Given the description of an element on the screen output the (x, y) to click on. 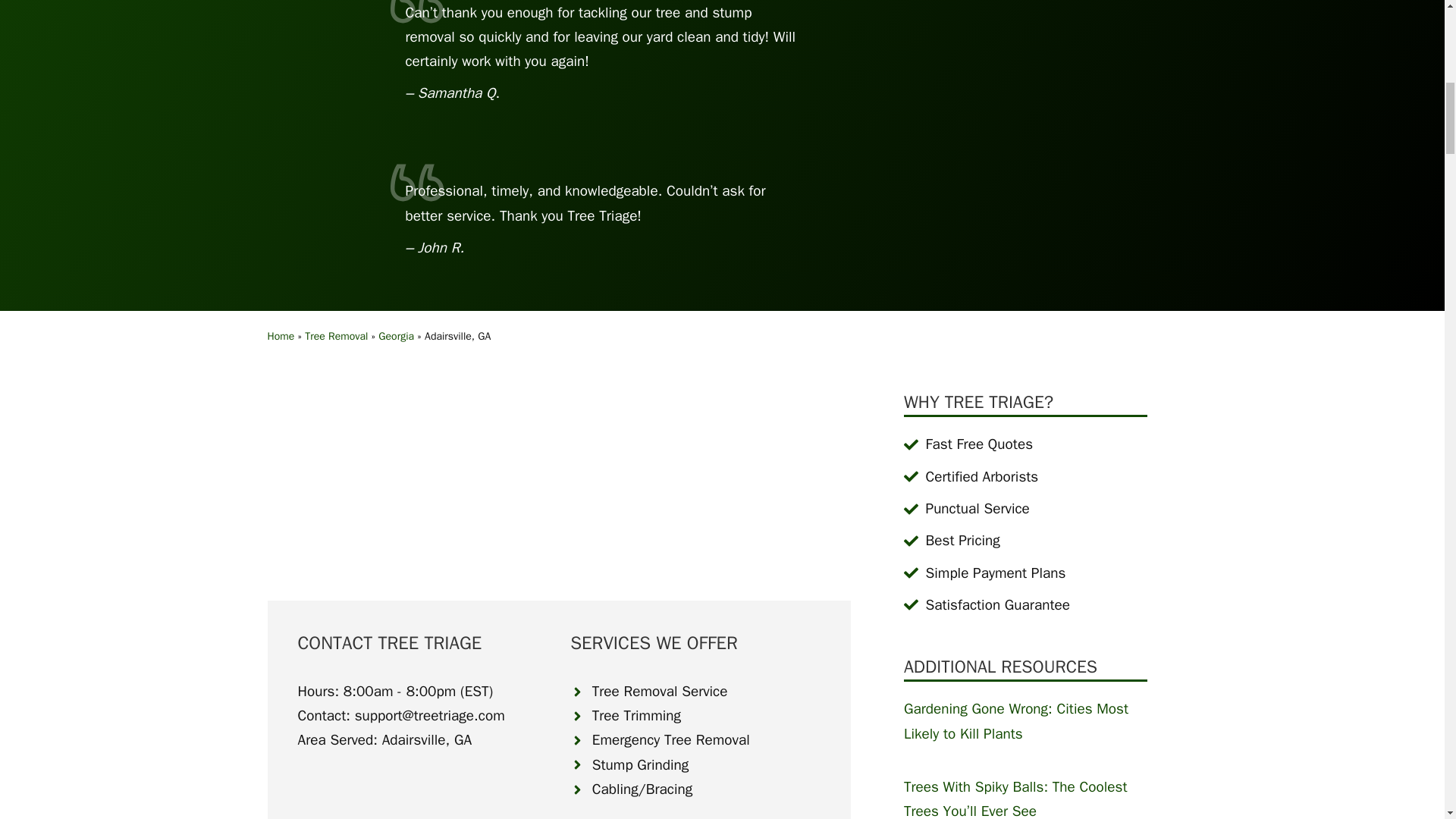
Georgia (395, 336)
Tree Removal (336, 336)
Gardening Gone Wrong: Cities Most Likely to Kill Plants (1016, 721)
Home (280, 336)
